Given the description of an element on the screen output the (x, y) to click on. 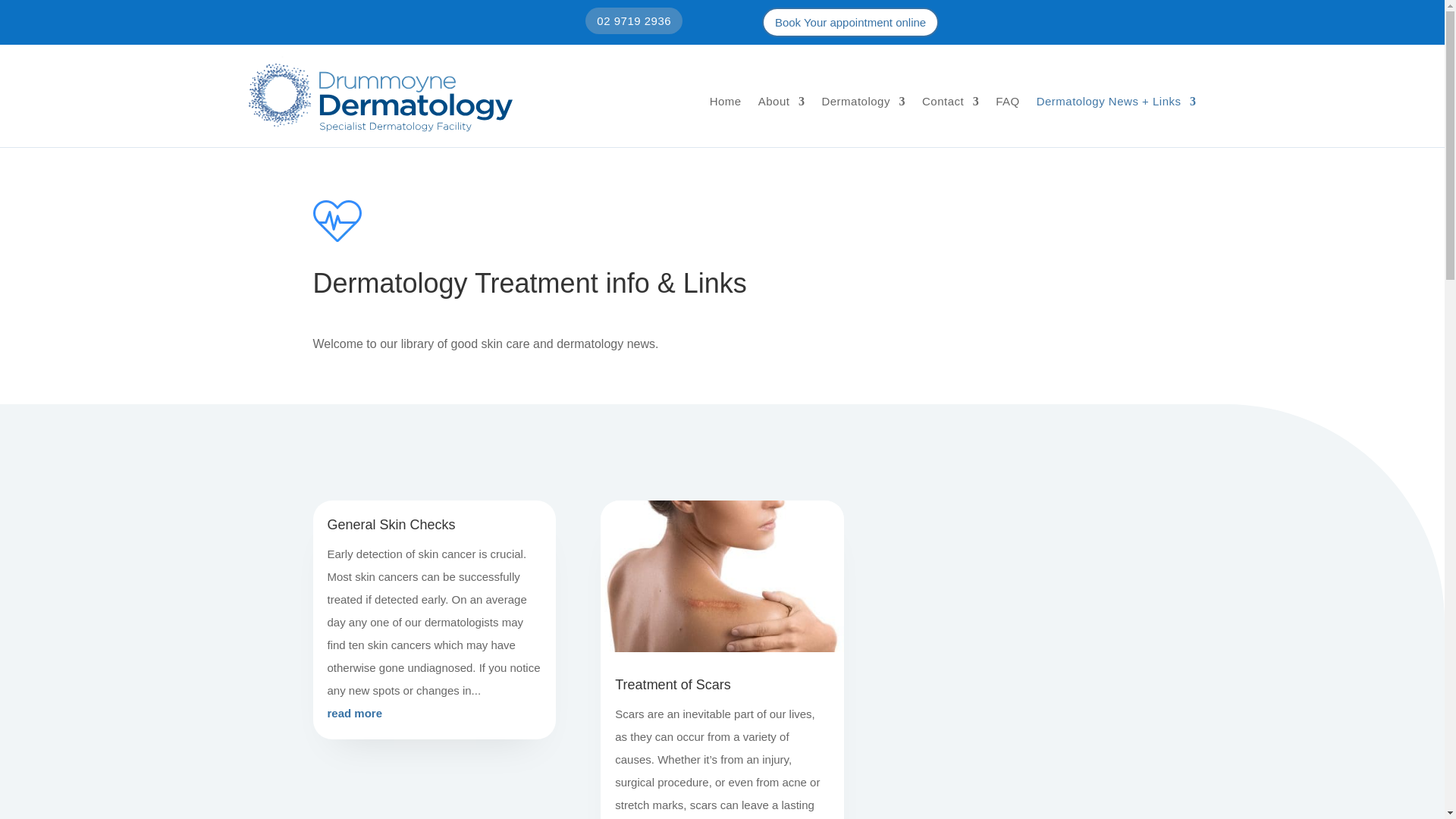
Dermatology (863, 101)
02 9719 2936 (633, 20)
Book Your appointment online (850, 21)
